Given the description of an element on the screen output the (x, y) to click on. 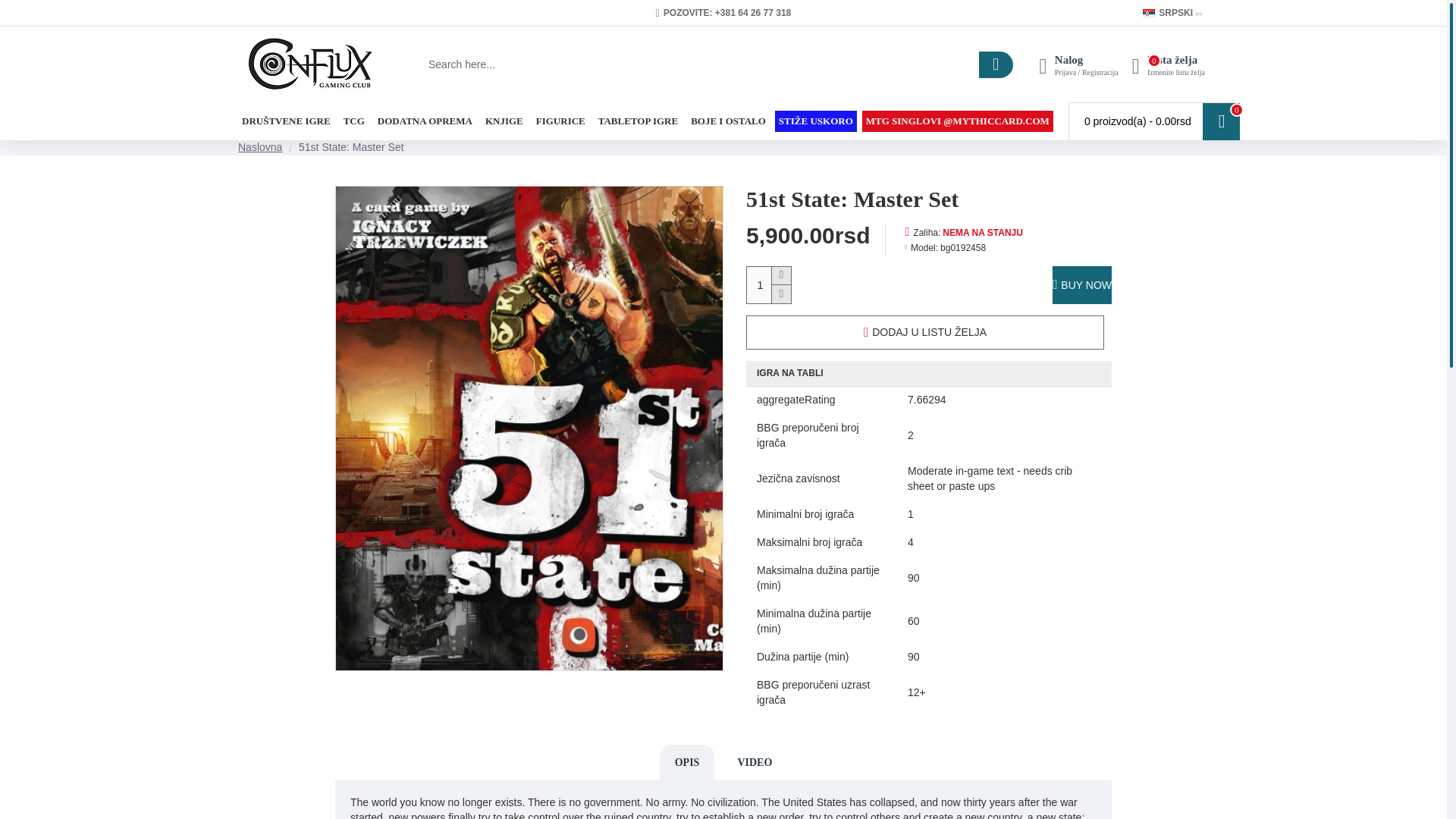
DODATNA OPREMA (425, 121)
1 (768, 284)
Srpski (1148, 13)
SRPSKI (1167, 12)
Conflux (309, 64)
TCG (353, 121)
